Given the description of an element on the screen output the (x, y) to click on. 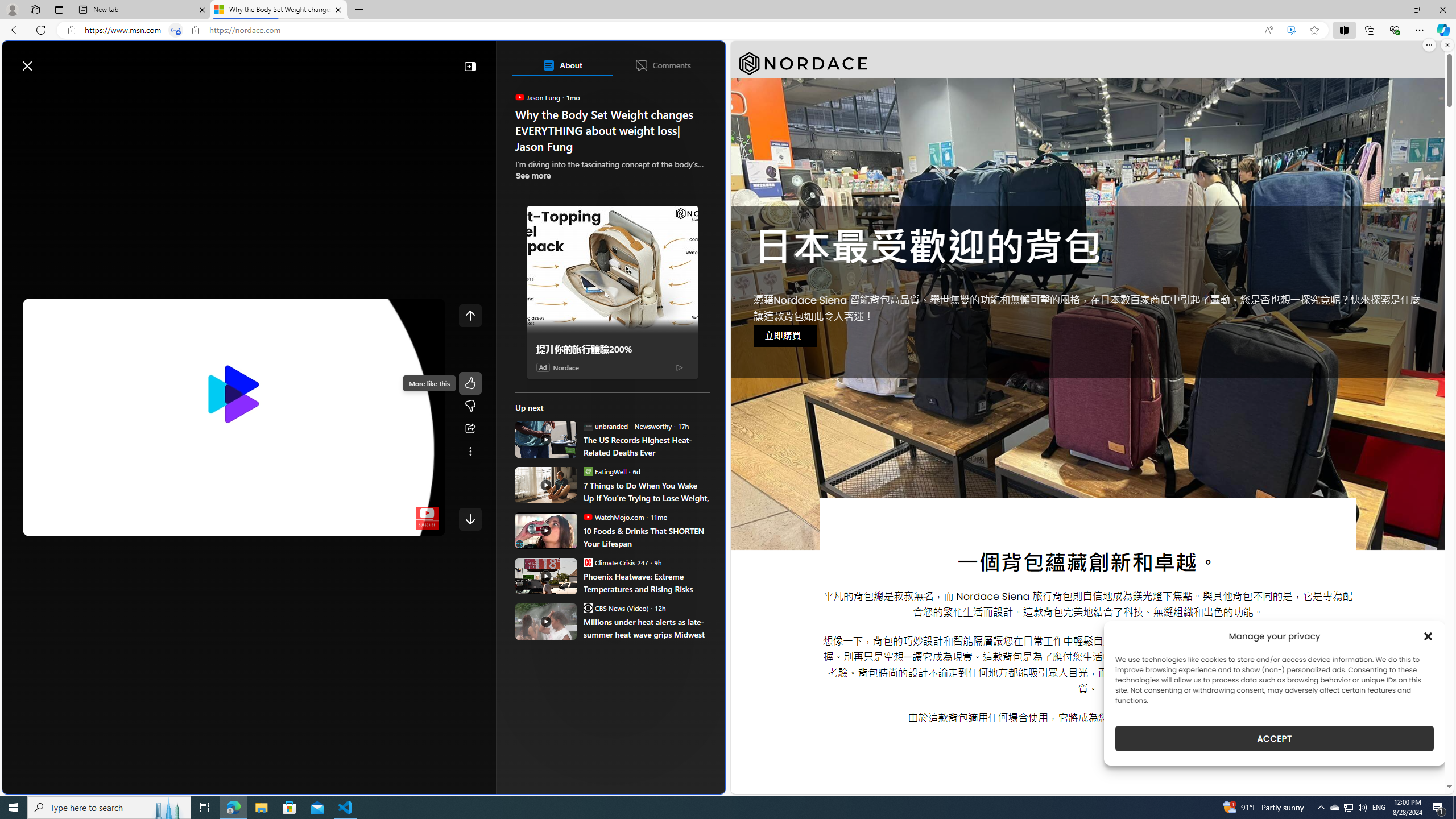
See more (533, 175)
Notifications (676, 60)
Open Copilot (566, 59)
The Associated Press (554, 366)
Discover (52, 92)
Split screen (1344, 29)
Full screen (f) (427, 525)
Add this page to favorites (Ctrl+D) (1314, 29)
Copilot (Ctrl+Shift+.) (1442, 29)
Tabs in split screen (175, 29)
CBS News (Video) CBS News (Video) (615, 607)
Restore (1416, 9)
About (561, 64)
